Given the description of an element on the screen output the (x, y) to click on. 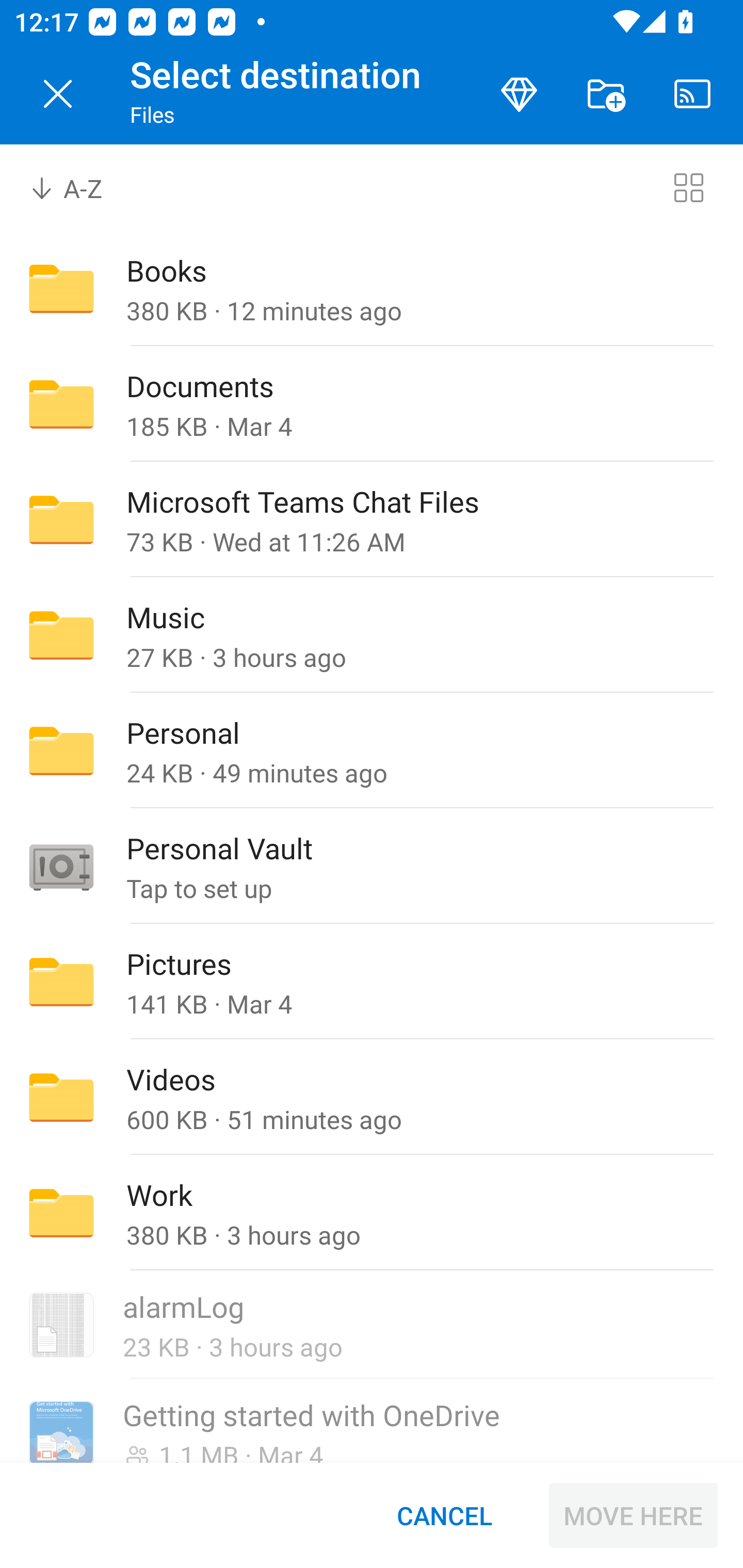
Close (57, 93)
Cast. Disconnected (692, 93)
Premium button (518, 93)
More actions button (605, 93)
A-Z Sort by combo box, sort by name, A to Z (80, 187)
Switch to tiles view (688, 187)
Folder Books 380 KB · 12 minutes ago (371, 288)
Folder Documents 185 KB · Mar 4 (371, 404)
Folder Music 27 KB · 3 hours ago (371, 635)
Folder Personal 24 KB · 49 minutes ago (371, 751)
Folder Personal Vault Tap to set up (371, 866)
Folder Pictures 141 KB · Mar 4 (371, 981)
Folder Videos 600 KB · 51 minutes ago (371, 1097)
Folder Work 380 KB · 3 hours ago (371, 1213)
Document alarmLog 23 KB · 3 hours ago (371, 1325)
CANCEL (443, 1515)
MOVE HERE (633, 1515)
